Given the description of an element on the screen output the (x, y) to click on. 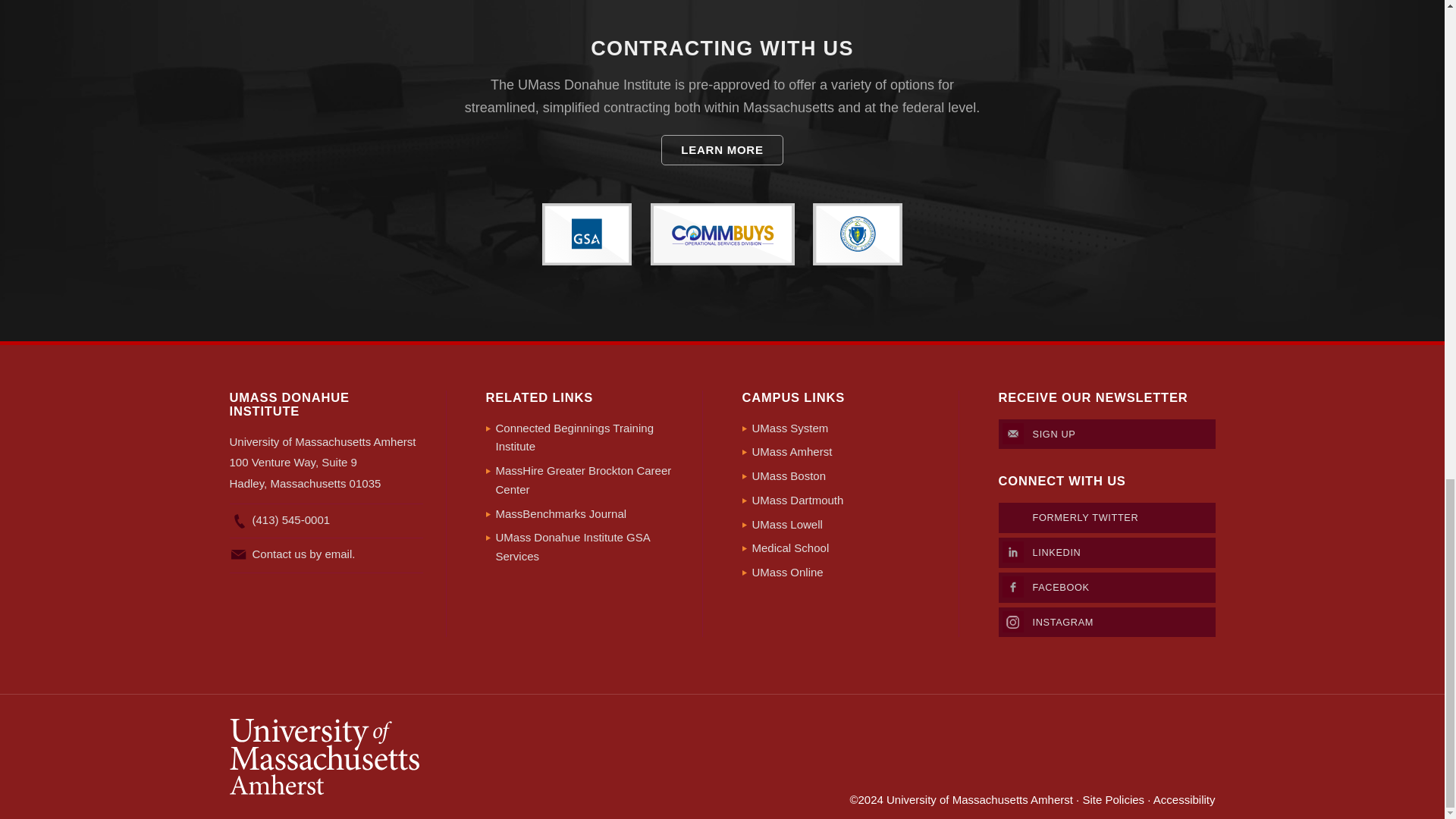
University of Massachusetts Amherst (475, 756)
